Given the description of an element on the screen output the (x, y) to click on. 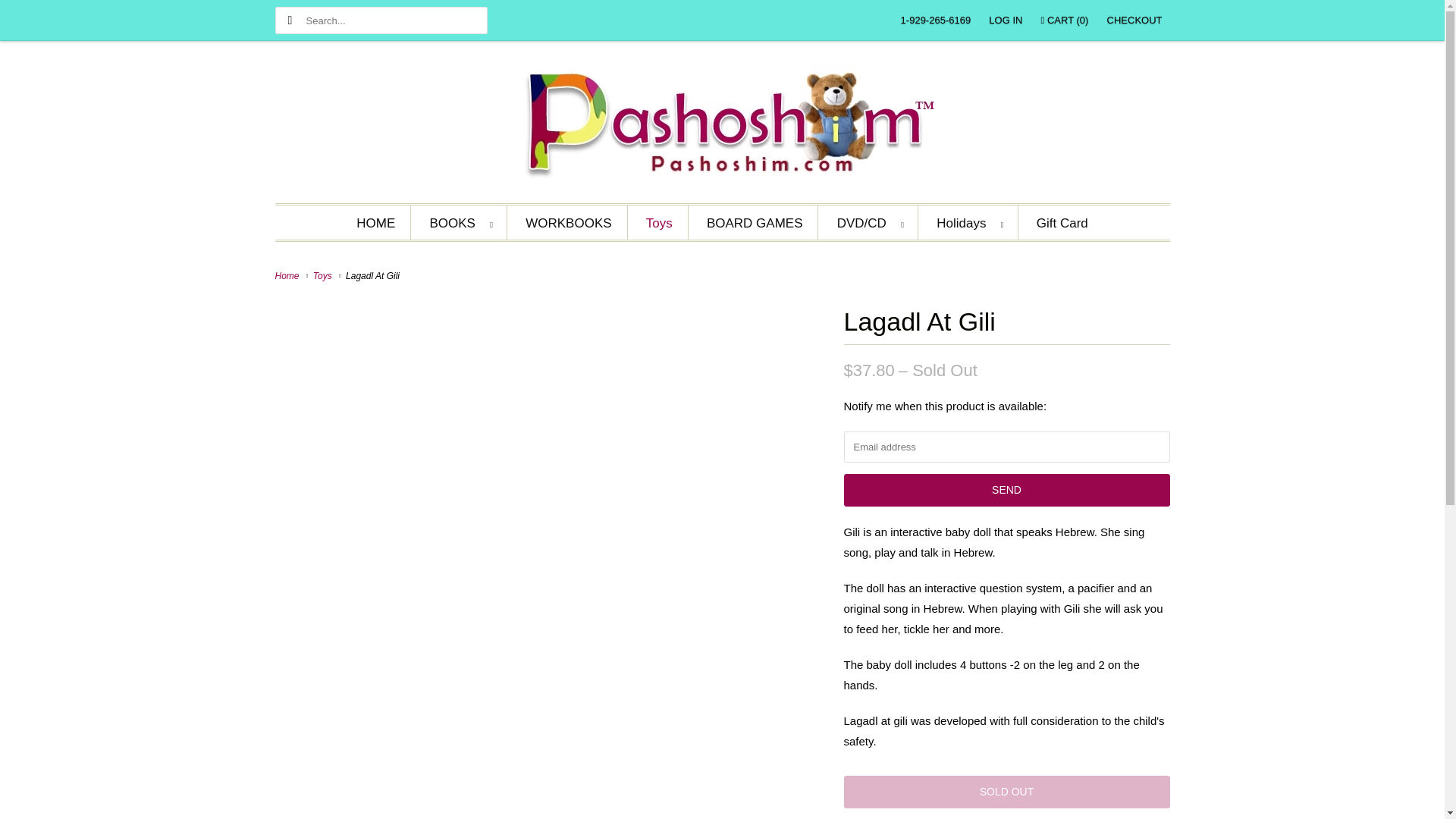
WORKBOOKS (568, 222)
Pashoshim.com (288, 276)
LOG IN (1005, 20)
1-929-265-6169 (936, 20)
BOARD GAMES (754, 222)
CHECKOUT (1133, 20)
Toys (659, 222)
HOME (375, 222)
Pashoshim.com (722, 125)
Toys (324, 276)
Gift Card (1061, 222)
Send (1006, 490)
